Given the description of an element on the screen output the (x, y) to click on. 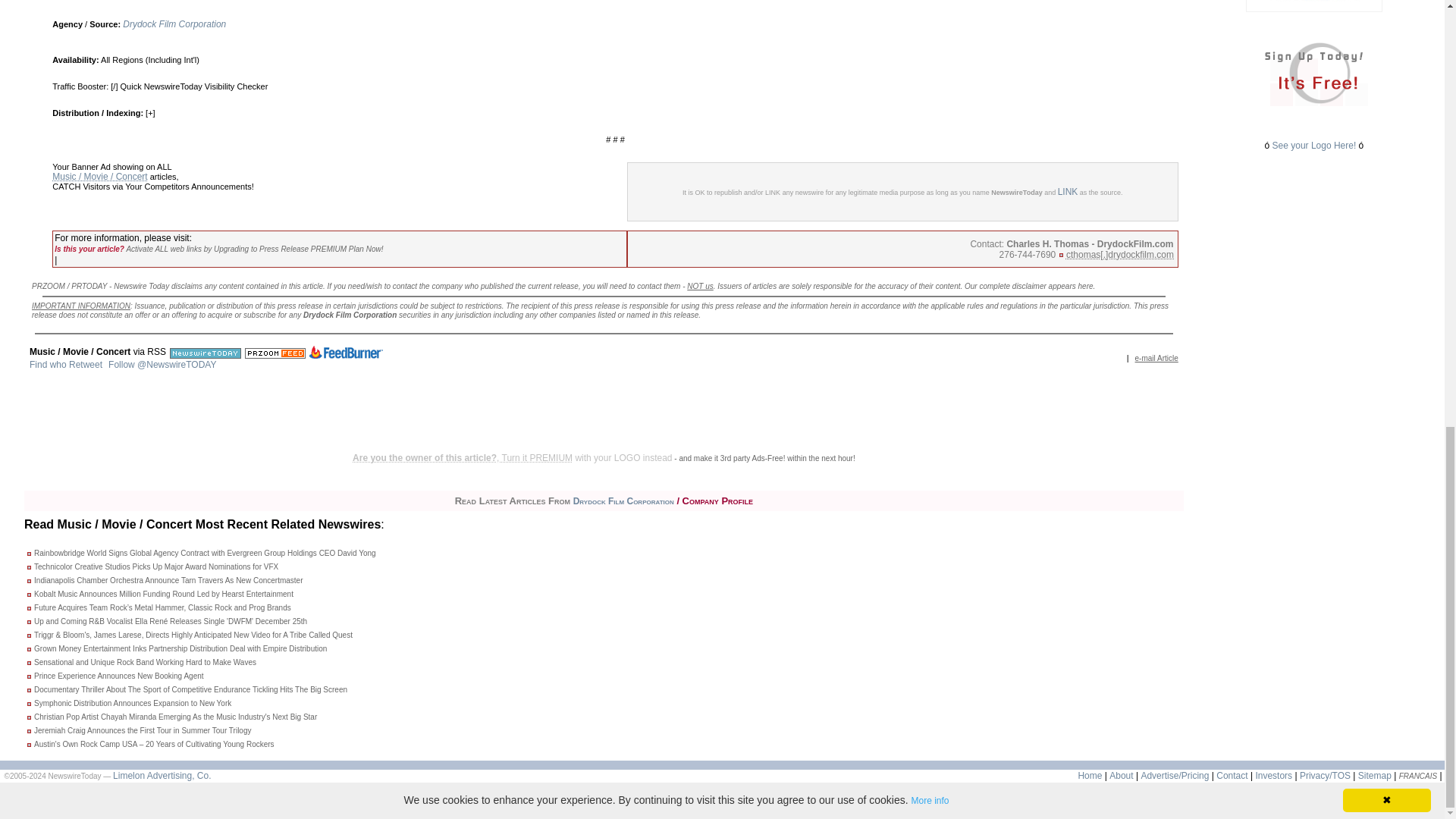
Find who Retweet (65, 364)
Quick NewswireToday (161, 86)
e-mail Article (1156, 357)
Drydock Film Corporation (173, 23)
here (1085, 285)
LINK (1068, 191)
